Given the description of an element on the screen output the (x, y) to click on. 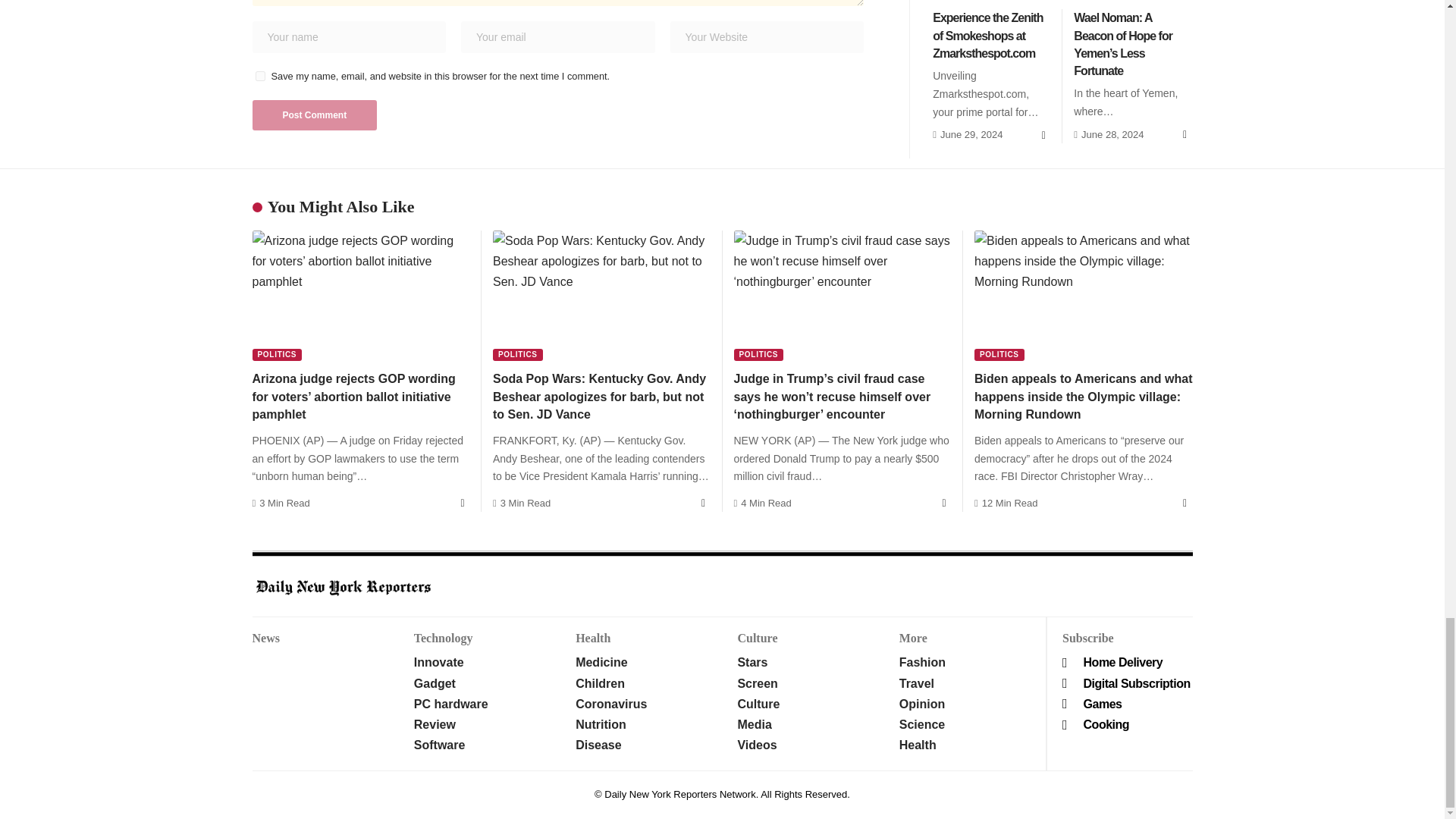
yes (259, 76)
Post Comment (314, 114)
